Given the description of an element on the screen output the (x, y) to click on. 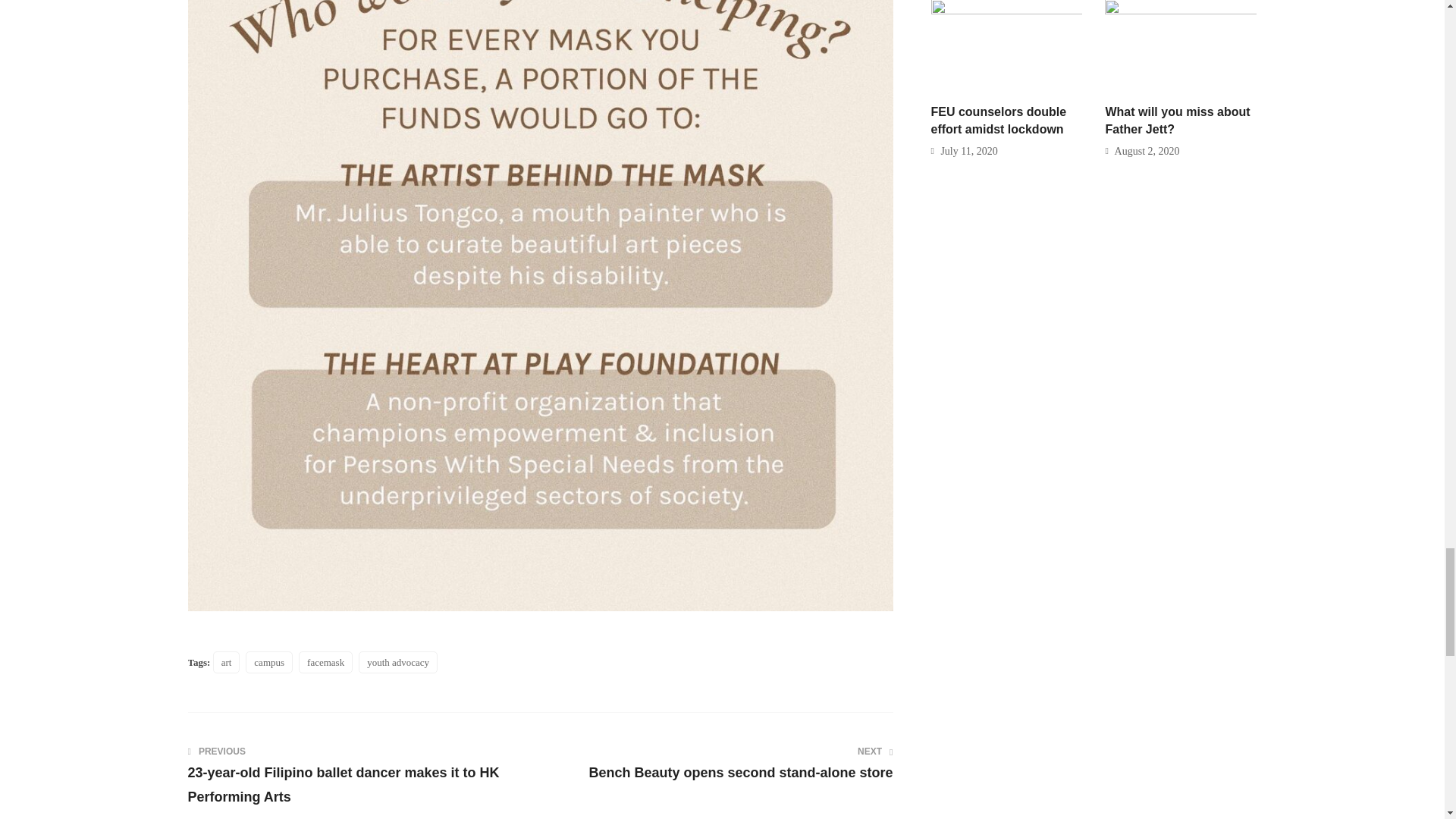
facemask (325, 662)
campus (269, 662)
youth advocacy (716, 763)
art (398, 662)
